Given the description of an element on the screen output the (x, y) to click on. 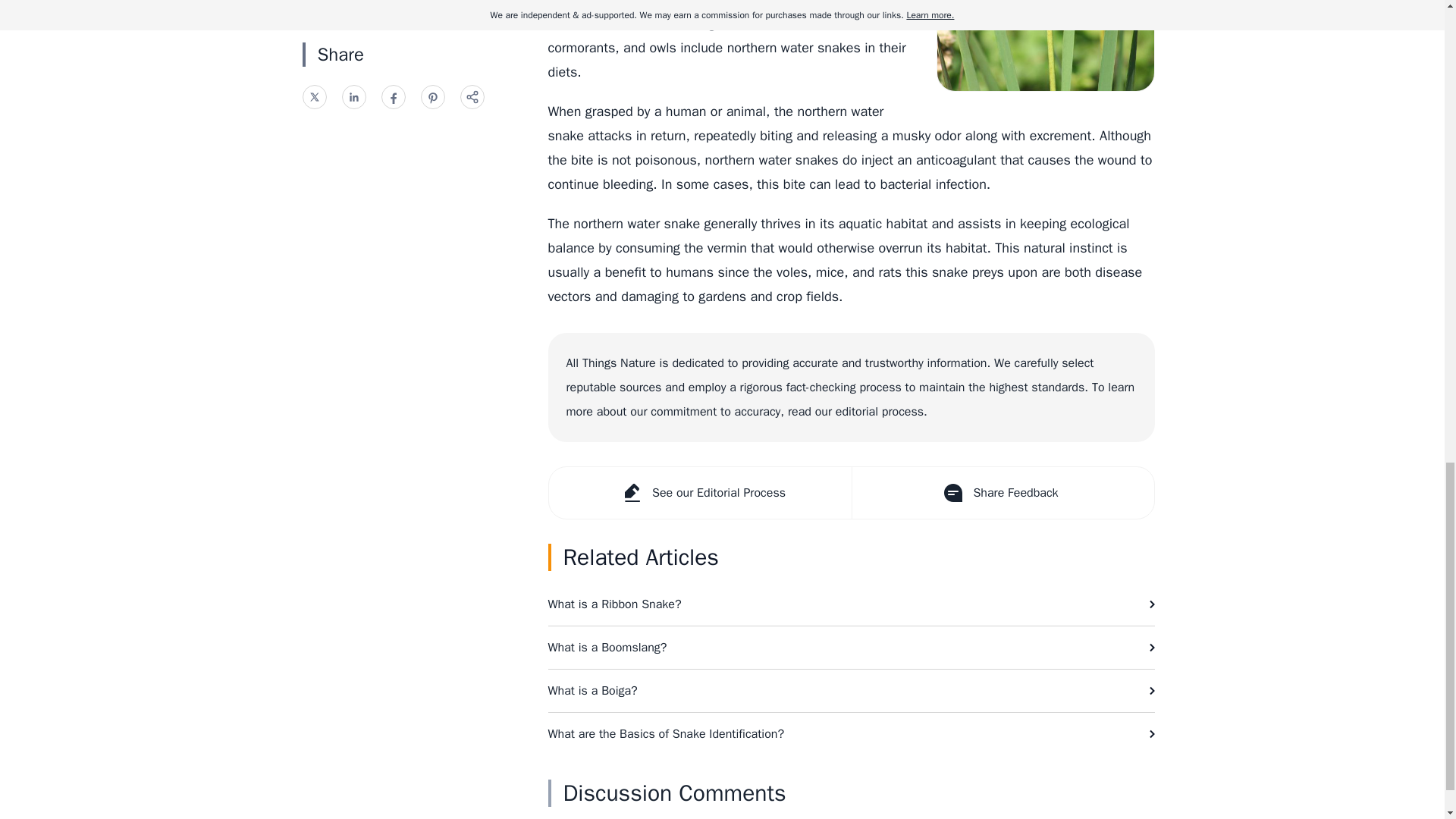
What is a Ribbon Snake? (850, 604)
What are the Basics of Snake Identification? (850, 733)
See our Editorial Process (699, 492)
What is a Boiga? (850, 690)
What is a Boomslang? (850, 647)
Share Feedback (1001, 492)
